Given the description of an element on the screen output the (x, y) to click on. 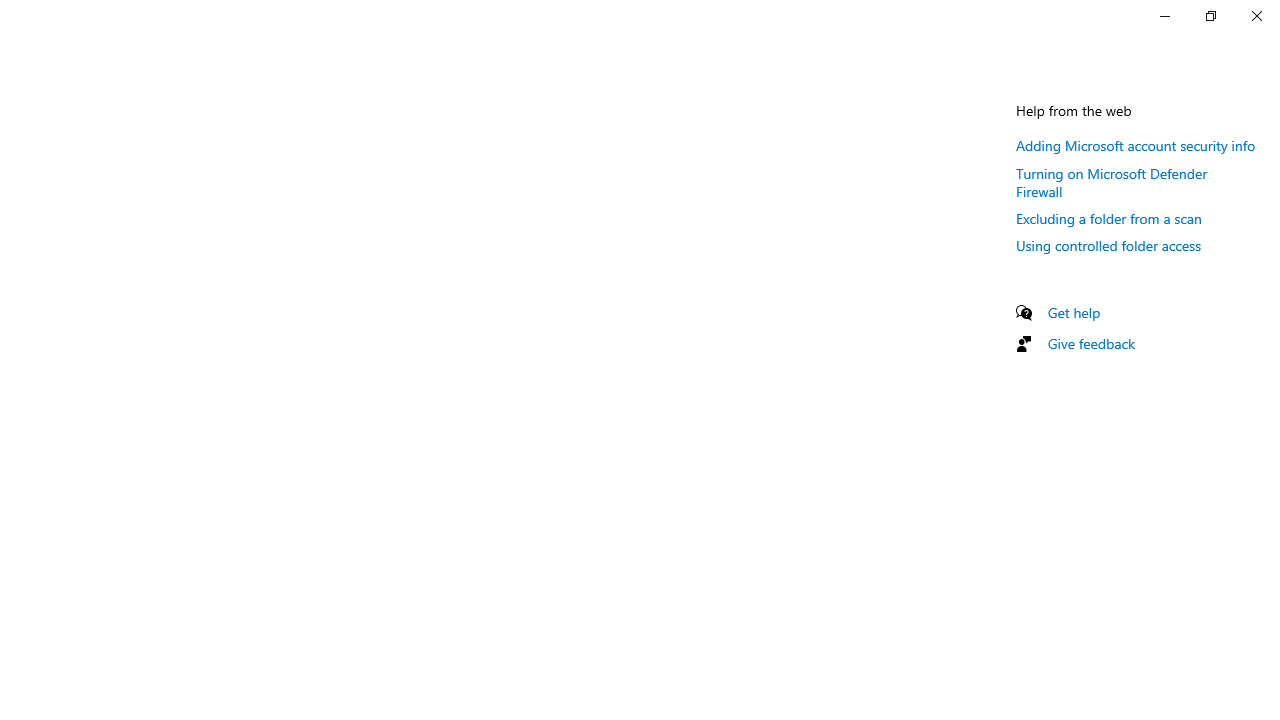
Using controlled folder access (1108, 245)
Adding Microsoft account security info (1135, 145)
Turning on Microsoft Defender Firewall (1112, 181)
Excluding a folder from a scan (1108, 218)
